Given the description of an element on the screen output the (x, y) to click on. 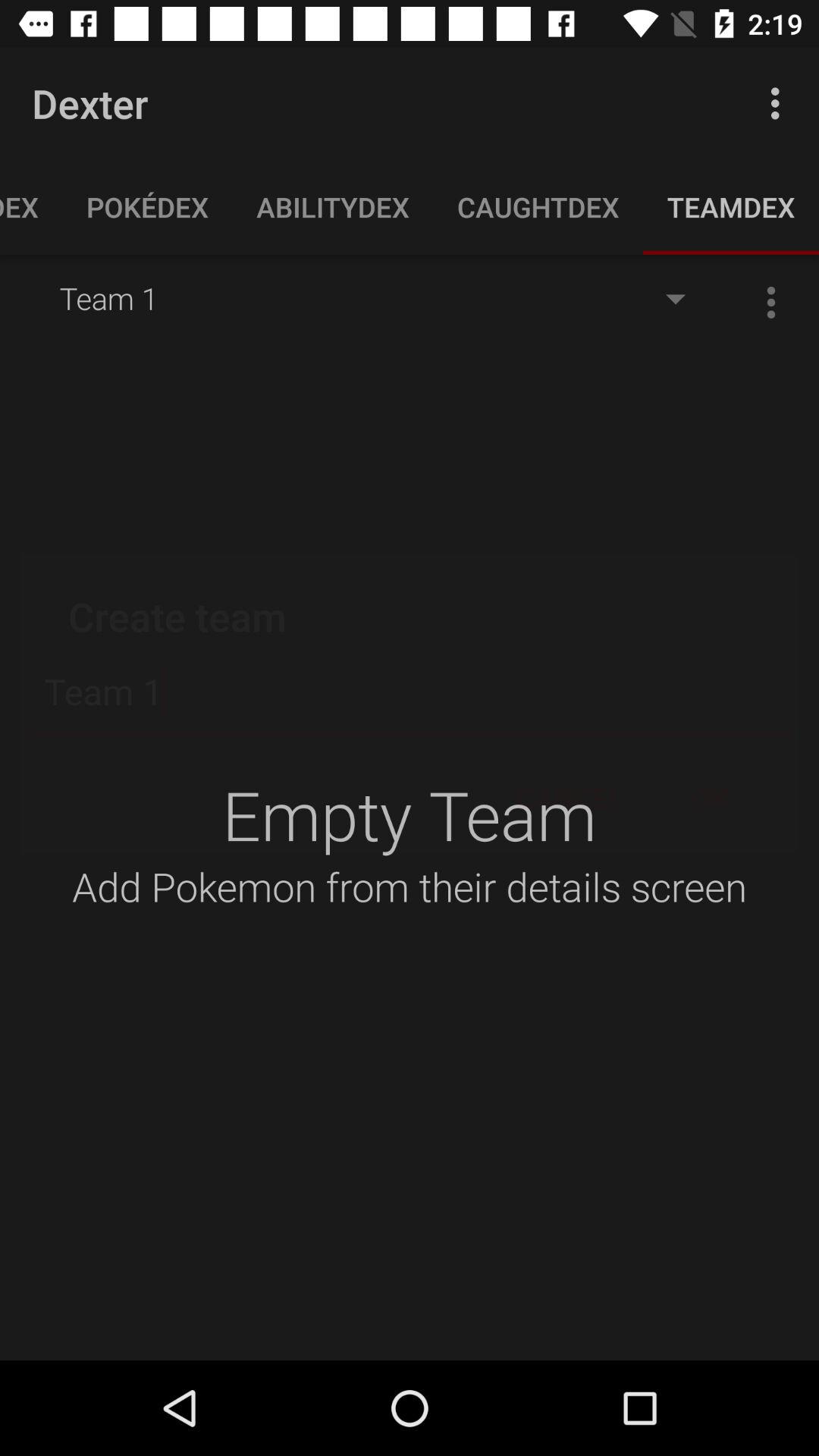
press app next to the dexter icon (779, 103)
